Given the description of an element on the screen output the (x, y) to click on. 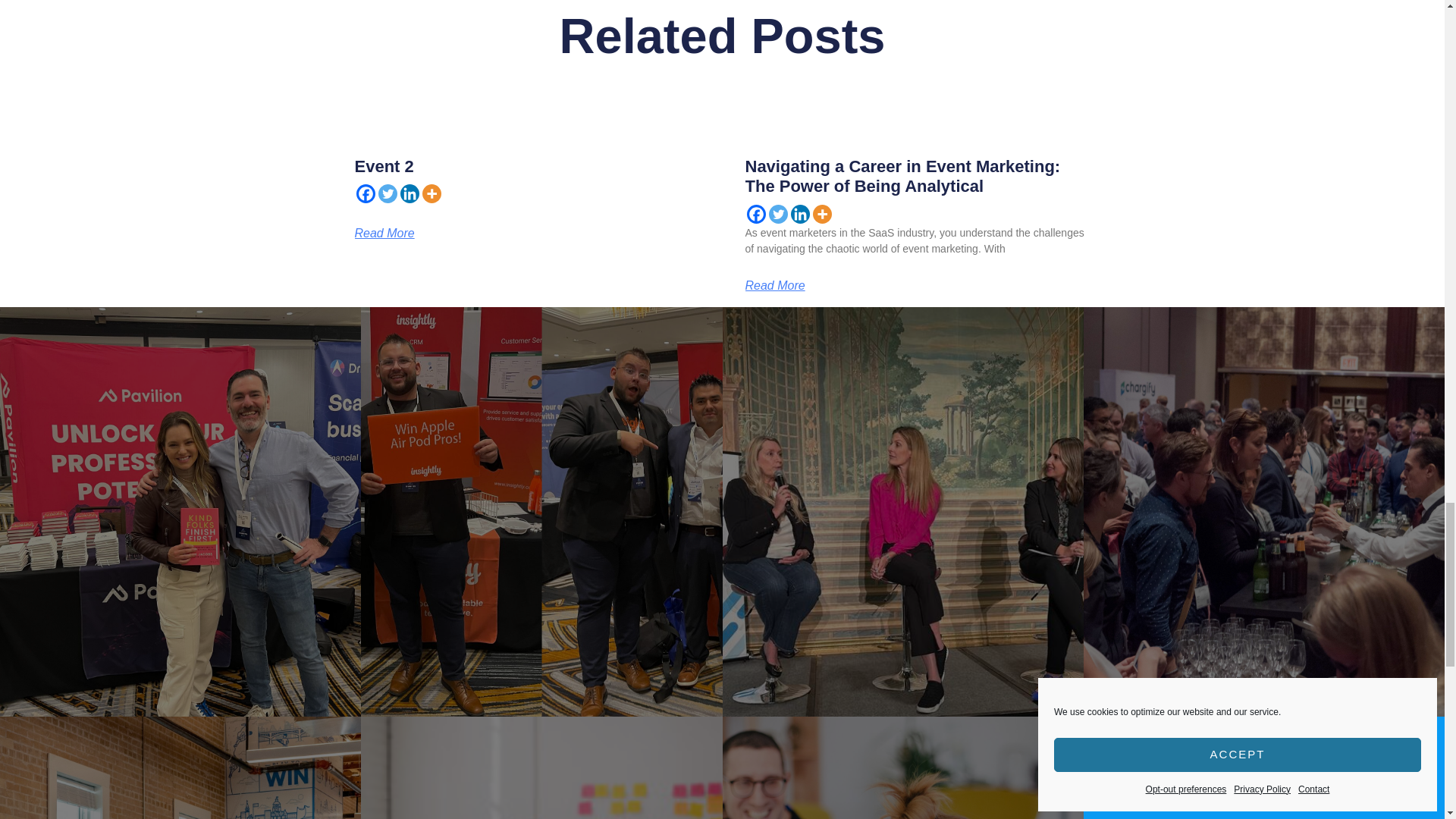
More (821, 213)
Twitter (777, 213)
More (431, 193)
Twitter (386, 193)
Linkedin (799, 213)
Facebook (365, 193)
Facebook (755, 213)
Linkedin (409, 193)
